Given the description of an element on the screen output the (x, y) to click on. 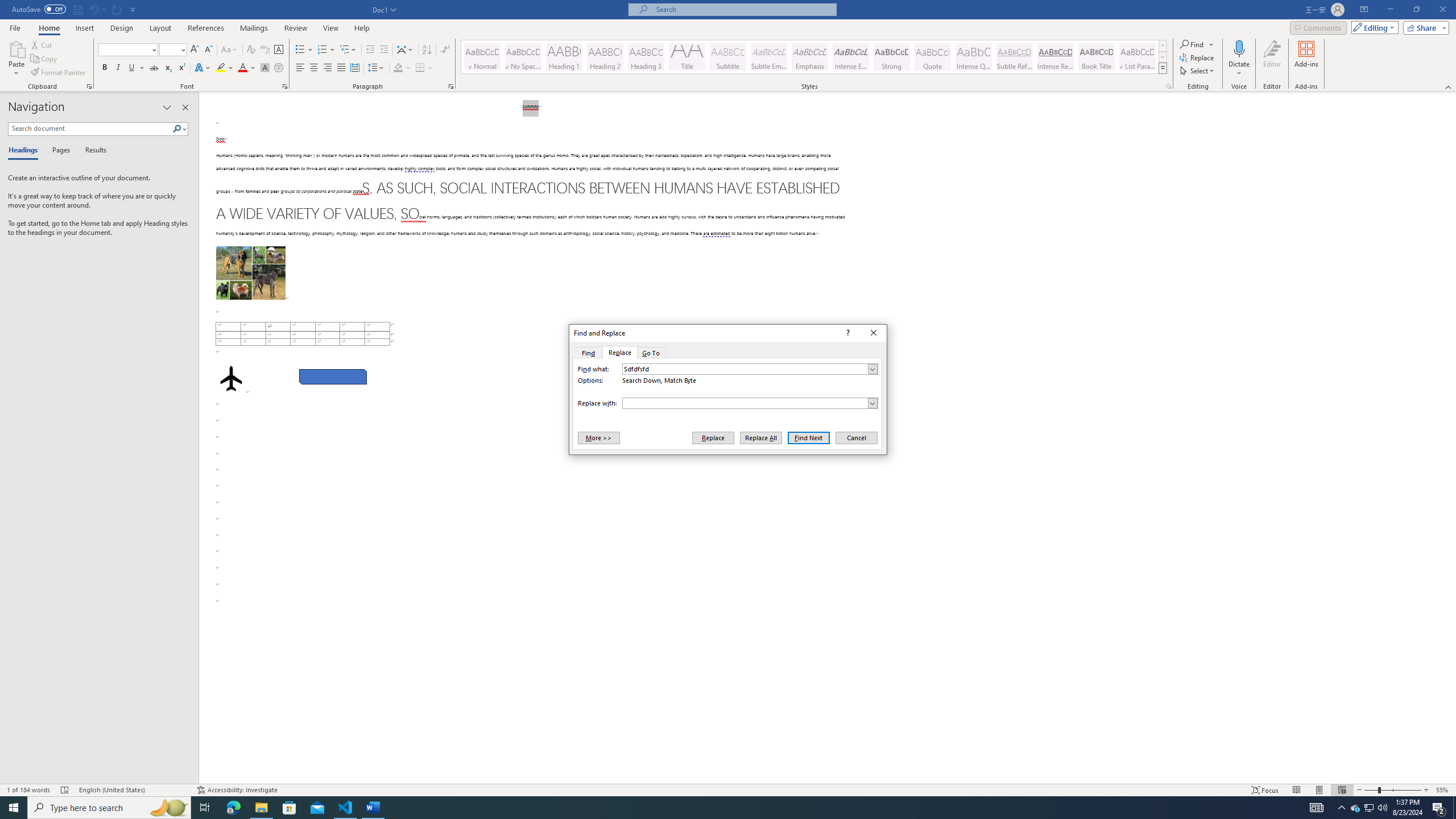
Microsoft Edge (233, 807)
Office Clipboard... (88, 85)
Microsoft Store (289, 807)
Styles (1162, 67)
Zoom (1392, 790)
Font Color Red (241, 67)
Heading 1 (564, 56)
Title (686, 56)
Shading RGB(0, 0, 0) (397, 67)
